Given the description of an element on the screen output the (x, y) to click on. 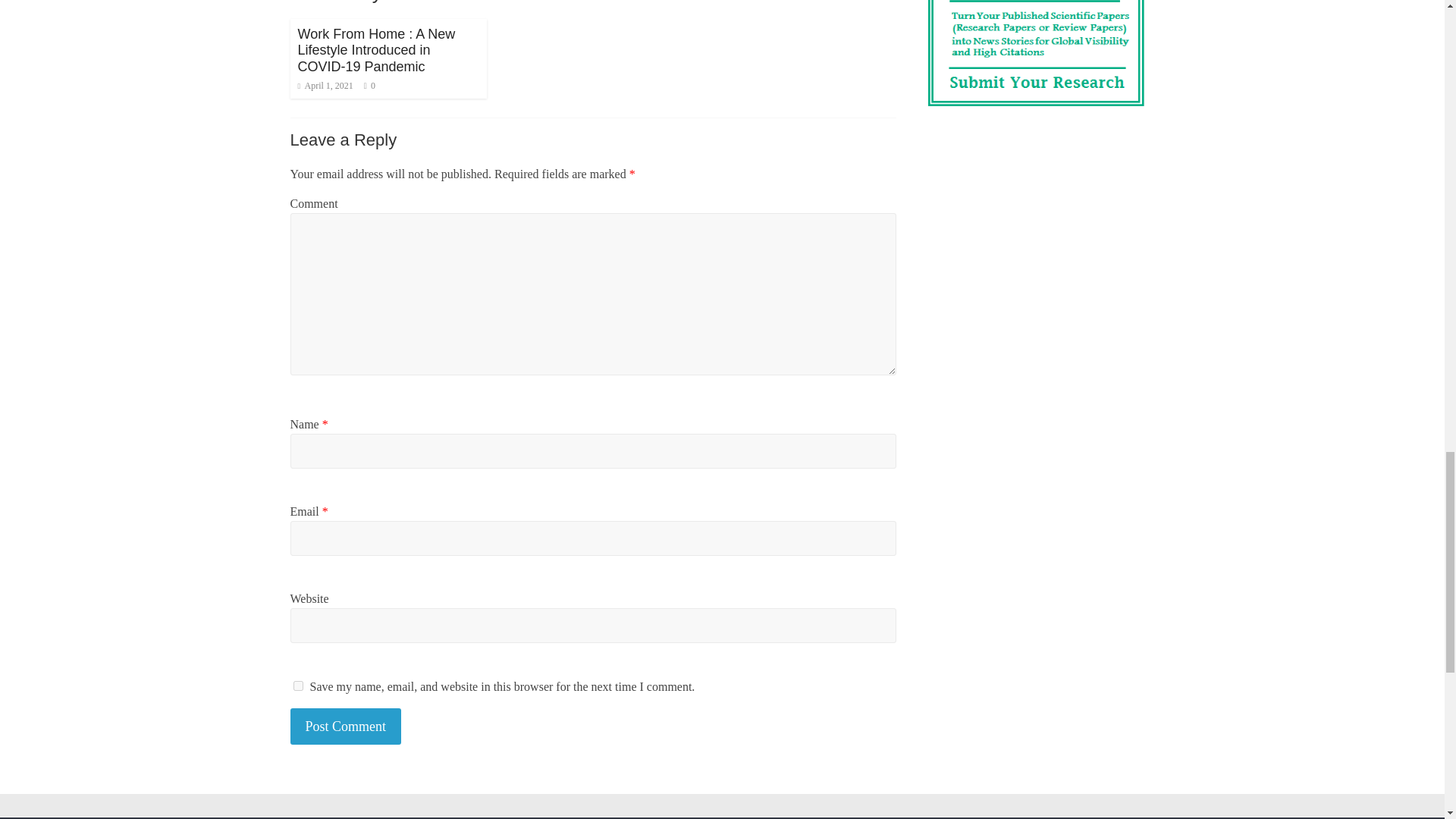
Post Comment (345, 726)
yes (297, 685)
